Given the description of an element on the screen output the (x, y) to click on. 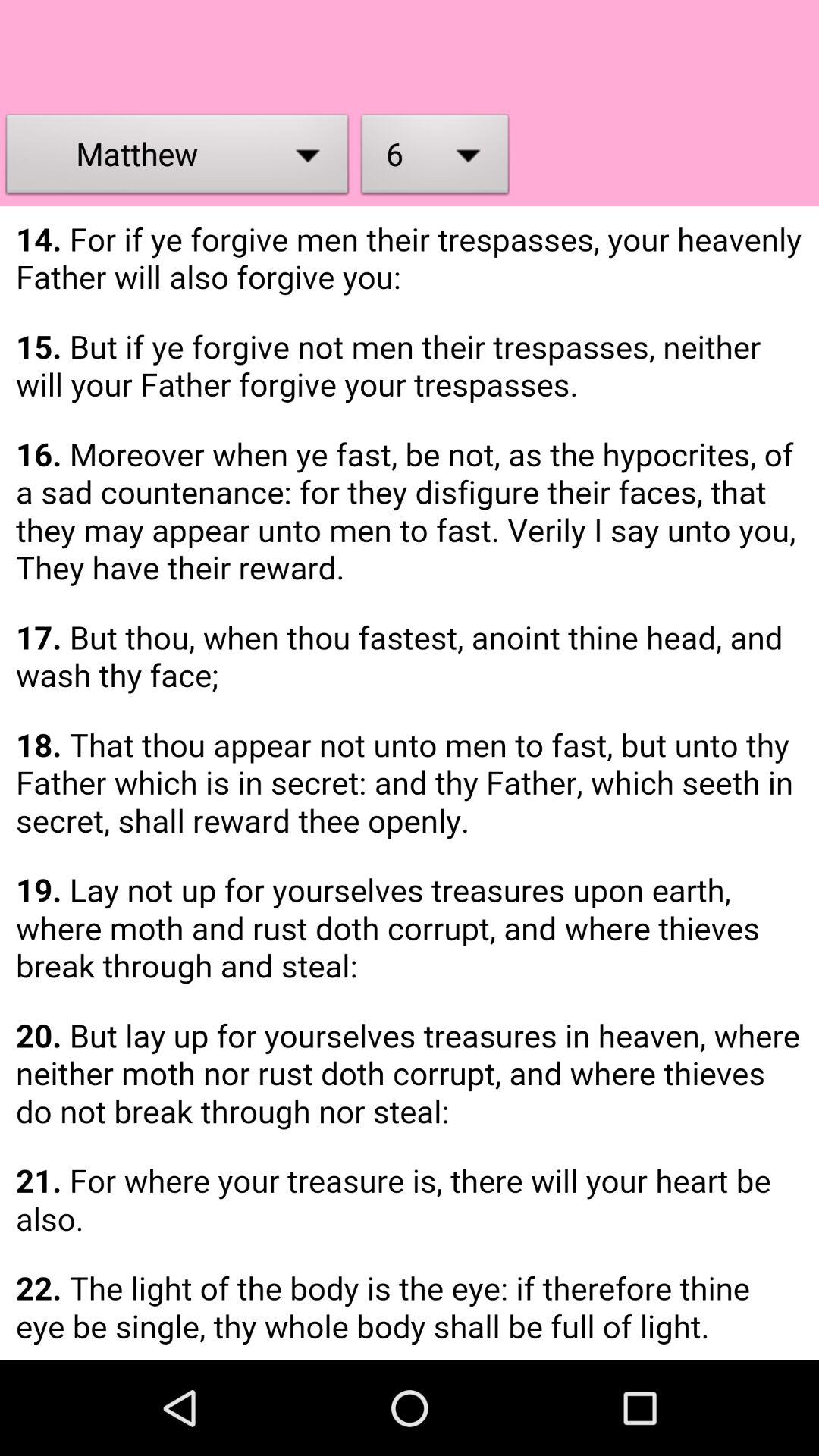
description (409, 783)
